Given the description of an element on the screen output the (x, y) to click on. 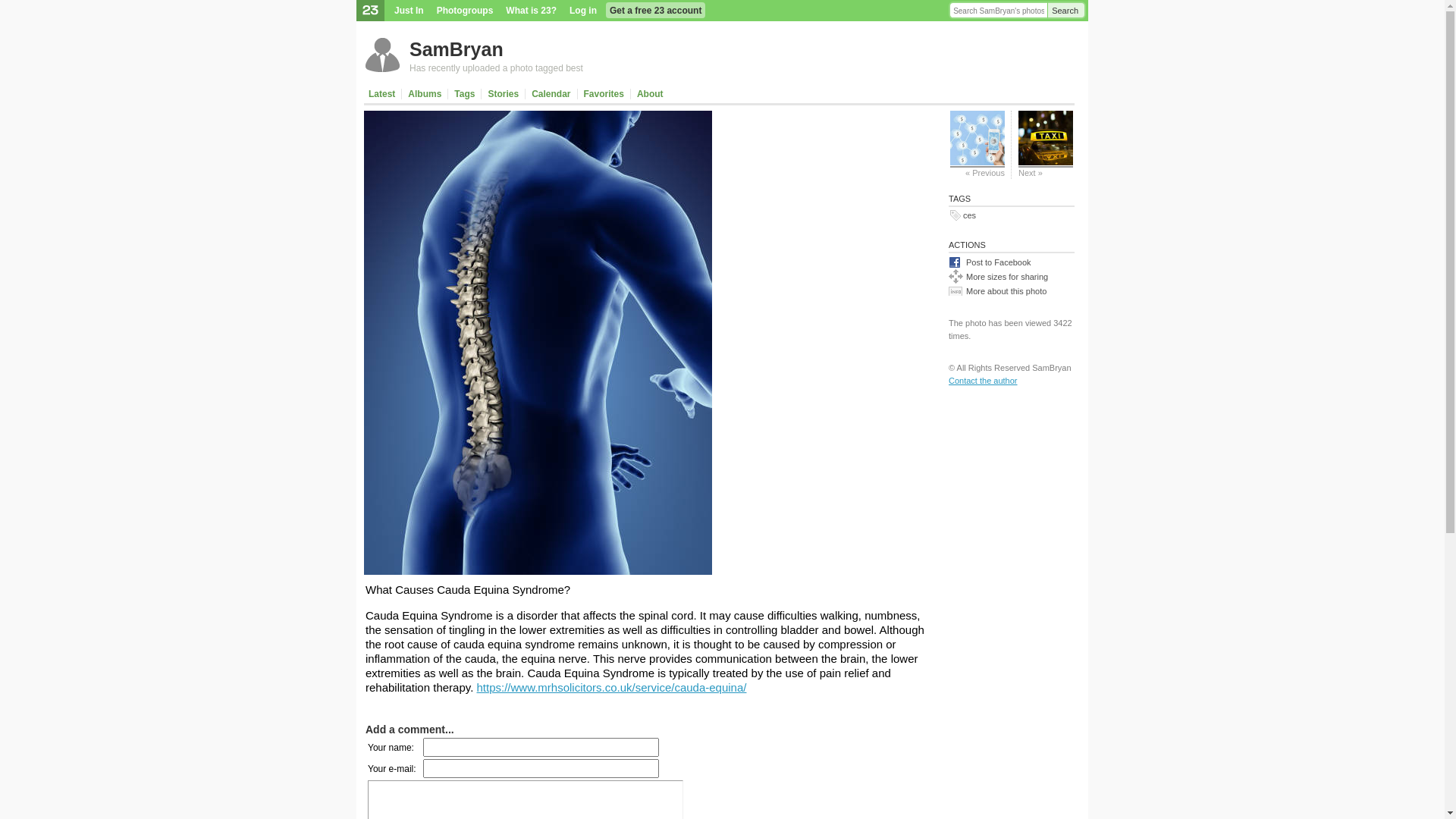
Has recently uploaded a photo tagged best Element type: text (496, 67)
ces Element type: text (969, 214)
Photogroups Element type: text (464, 10)
More sizes for sharing Element type: text (1011, 276)
SamBryan Element type: text (456, 48)
Albums Element type: text (424, 93)
Favorites Element type: text (603, 93)
Search SamBryan's photos Element type: text (998, 10)
About Element type: text (649, 93)
Calendar Element type: text (551, 93)
Get a free 23 account Element type: text (655, 10)
Contact the author Element type: text (982, 380)
More about this photo Element type: text (1011, 290)
Latest Element type: text (383, 93)
What is 23? Element type: text (530, 10)
Tags Element type: text (464, 93)
Just In Element type: text (408, 10)
Search Element type: text (1066, 10)
Log in Element type: text (582, 10)
https://www.mrhsolicitors.co.uk/service/cauda-equina/ Element type: text (611, 686)
Post to Facebook Element type: text (1011, 261)
  Element type: text (676, 93)
Stories Element type: text (503, 93)
